Given the description of an element on the screen output the (x, y) to click on. 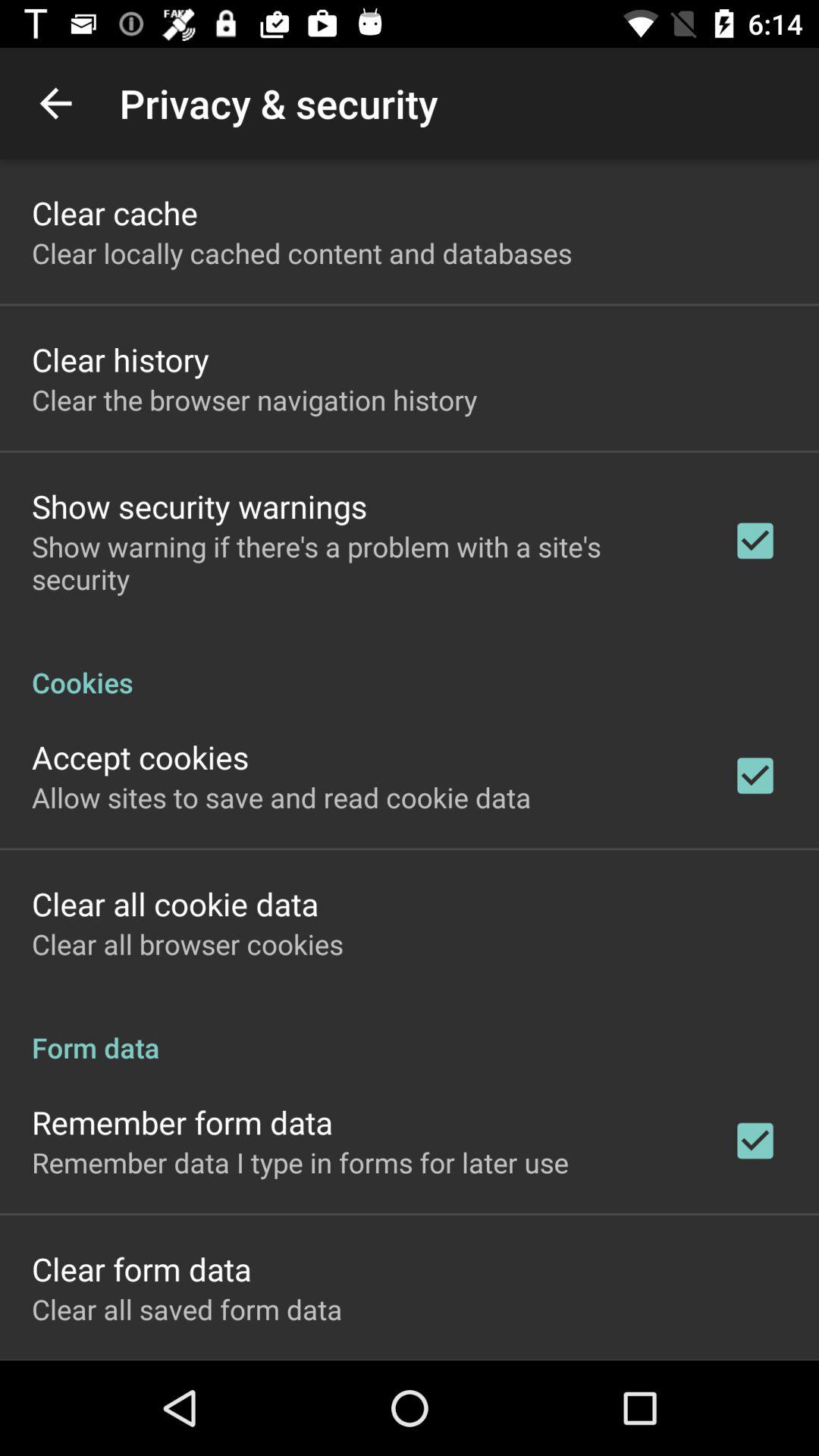
turn on show warning if icon (361, 562)
